Given the description of an element on the screen output the (x, y) to click on. 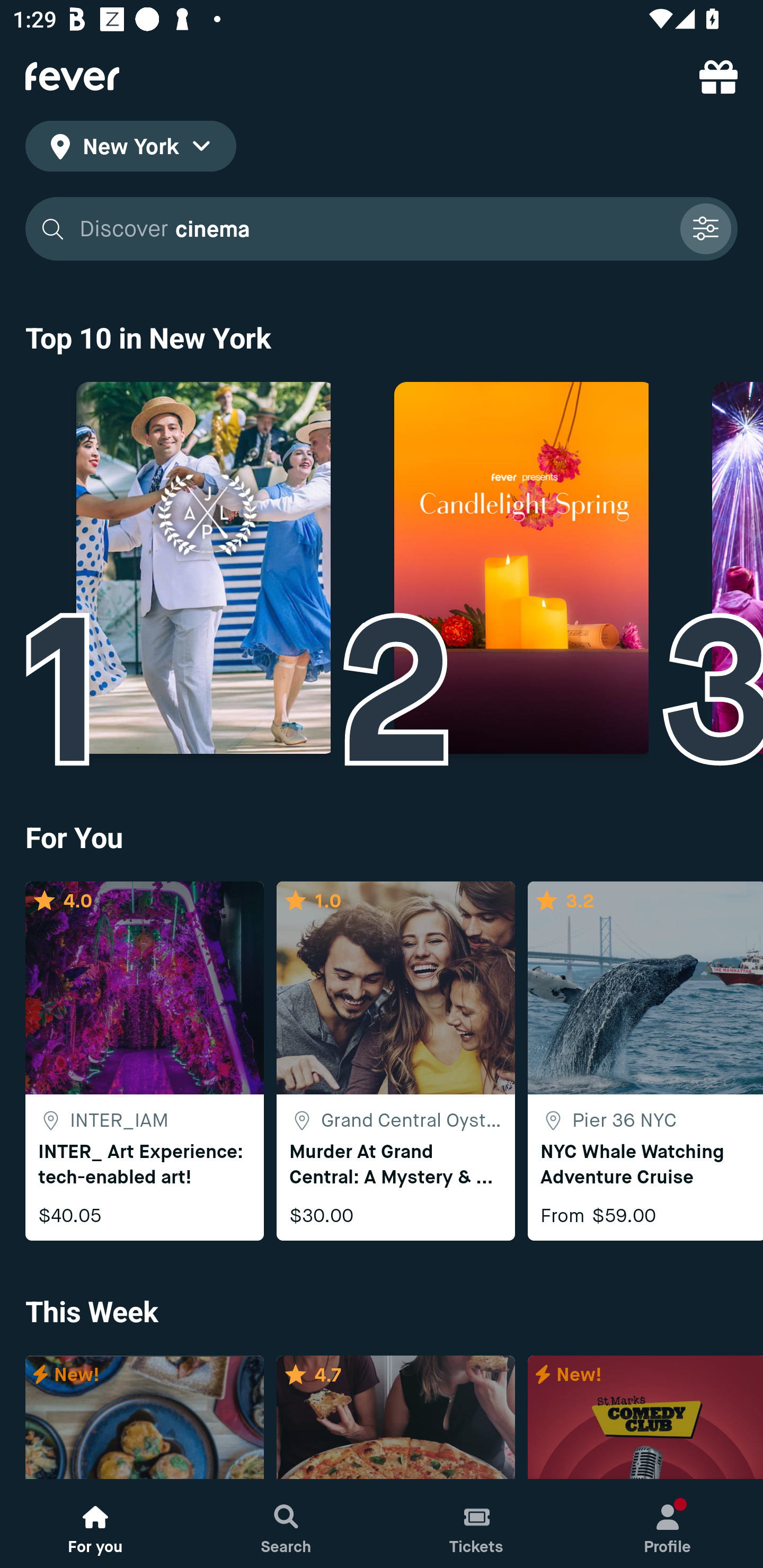
referral (718, 75)
location icon New York location icon (130, 149)
Discover cinema (381, 228)
Discover cinema (373, 228)
cover image New! label New! (144, 1417)
cover image 50.0 4.7 (395, 1417)
cover image New! label New! Fever exclusive (645, 1417)
Search (285, 1523)
Tickets (476, 1523)
Profile, New notification Profile (667, 1523)
